Given the description of an element on the screen output the (x, y) to click on. 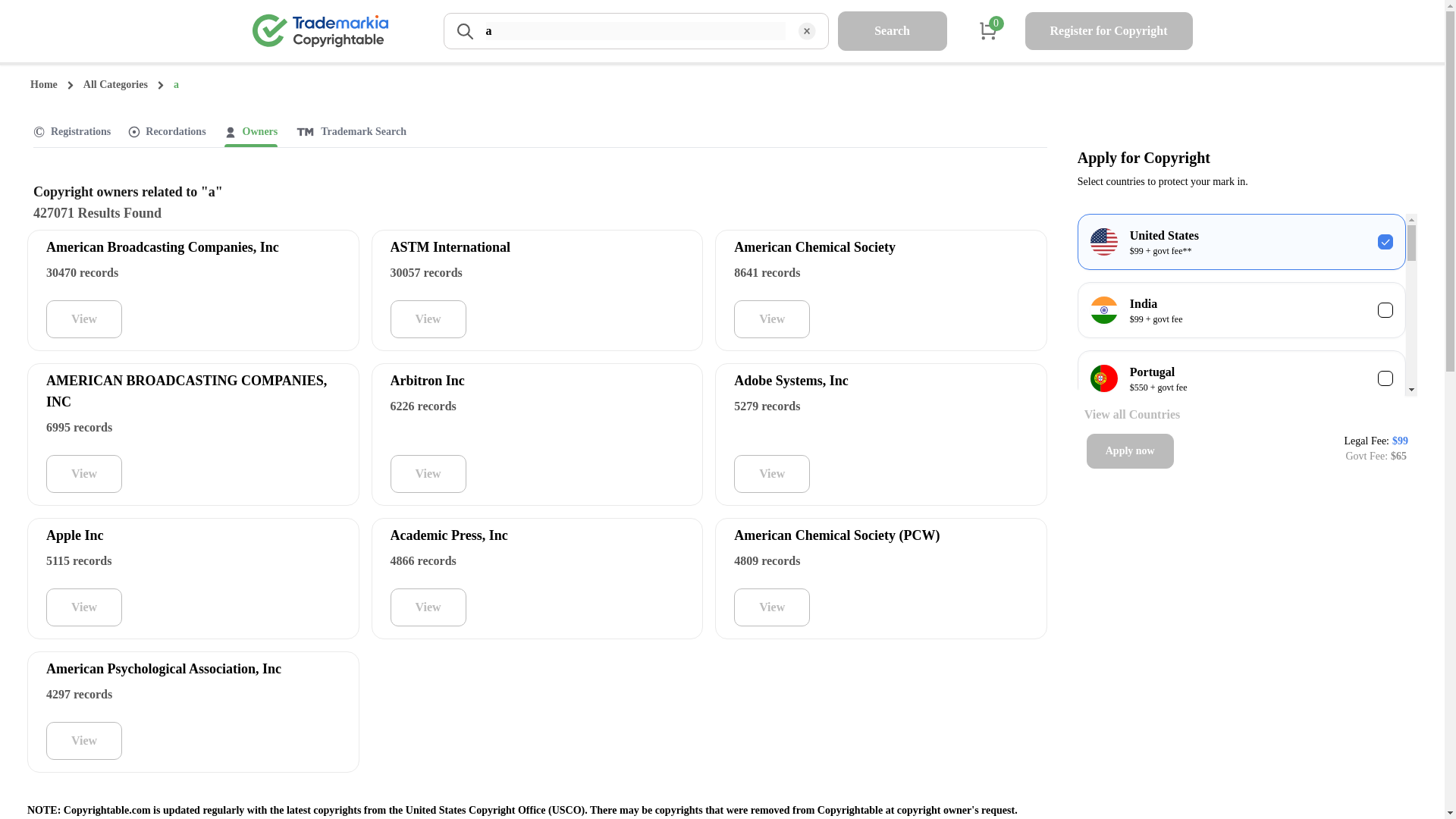
Owners (260, 132)
View (84, 474)
View (427, 474)
View (771, 607)
0 (989, 31)
a (636, 31)
View (427, 607)
View (84, 607)
Register for Copyright (1108, 30)
View (771, 319)
